Given the description of an element on the screen output the (x, y) to click on. 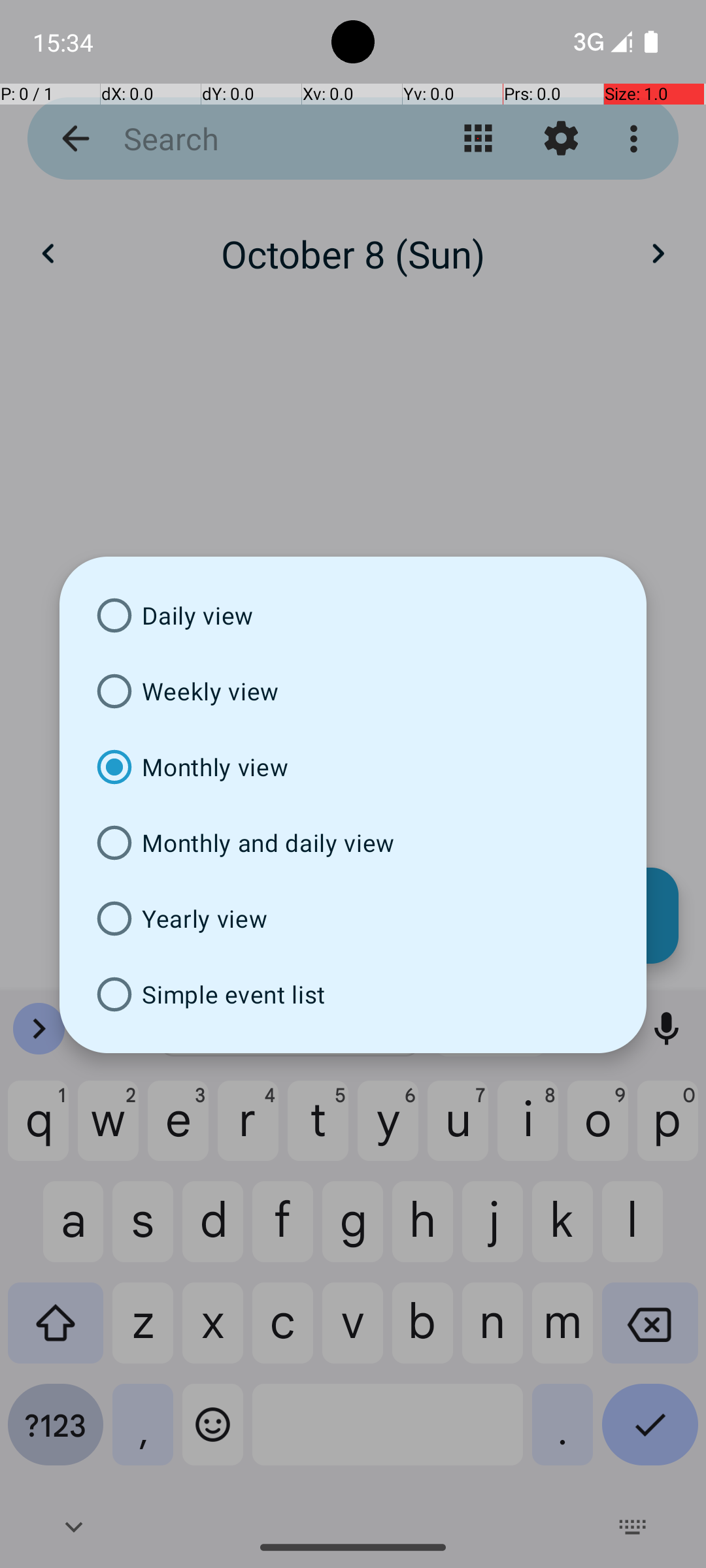
Daily view Element type: android.widget.RadioButton (352, 615)
Weekly view Element type: android.widget.RadioButton (352, 691)
Monthly view Element type: android.widget.RadioButton (352, 766)
Monthly and daily view Element type: android.widget.RadioButton (352, 842)
Yearly view Element type: android.widget.RadioButton (352, 918)
Simple event list Element type: android.widget.RadioButton (352, 994)
